Given the description of an element on the screen output the (x, y) to click on. 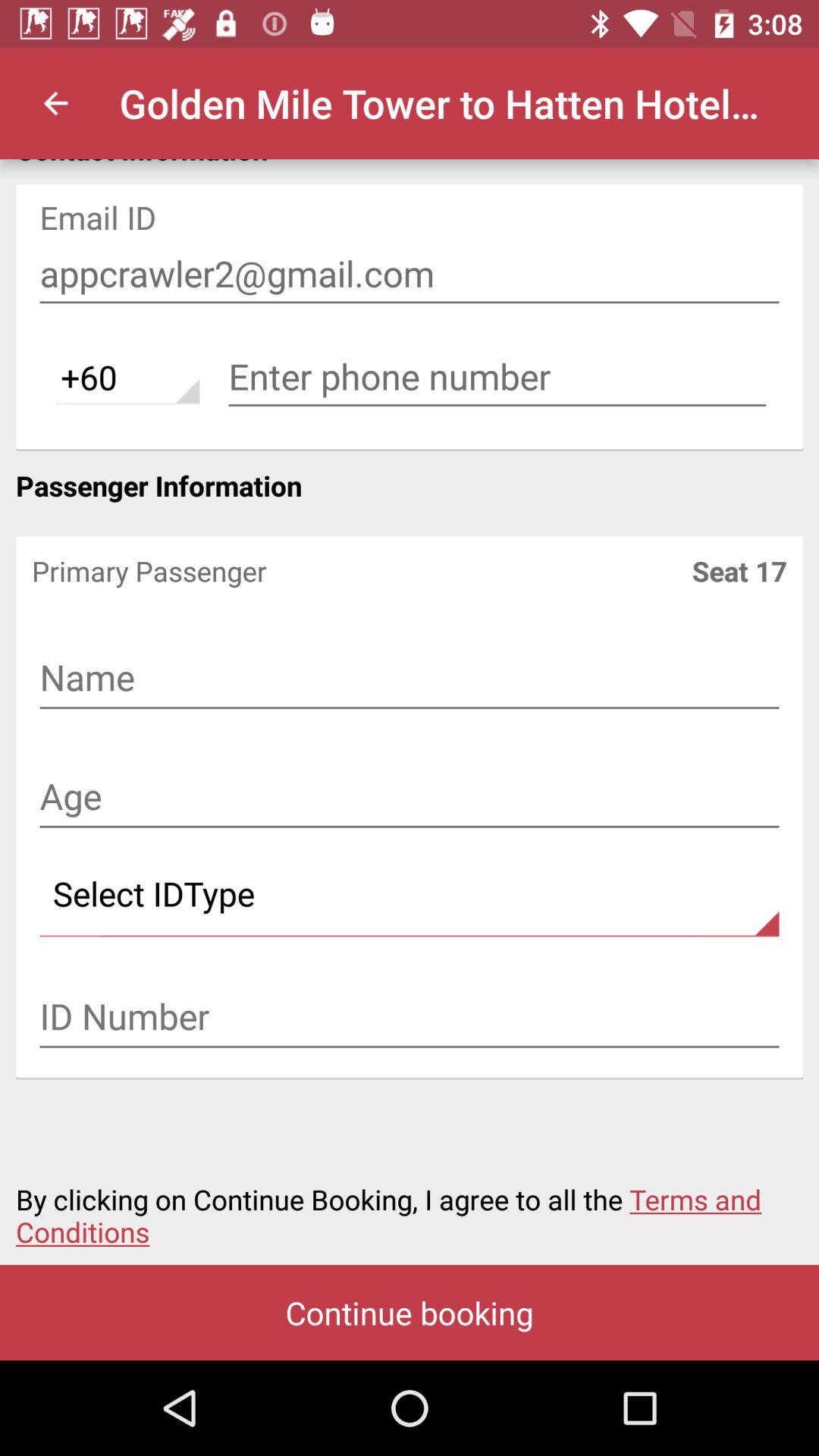
enter phone number (497, 377)
